Given the description of an element on the screen output the (x, y) to click on. 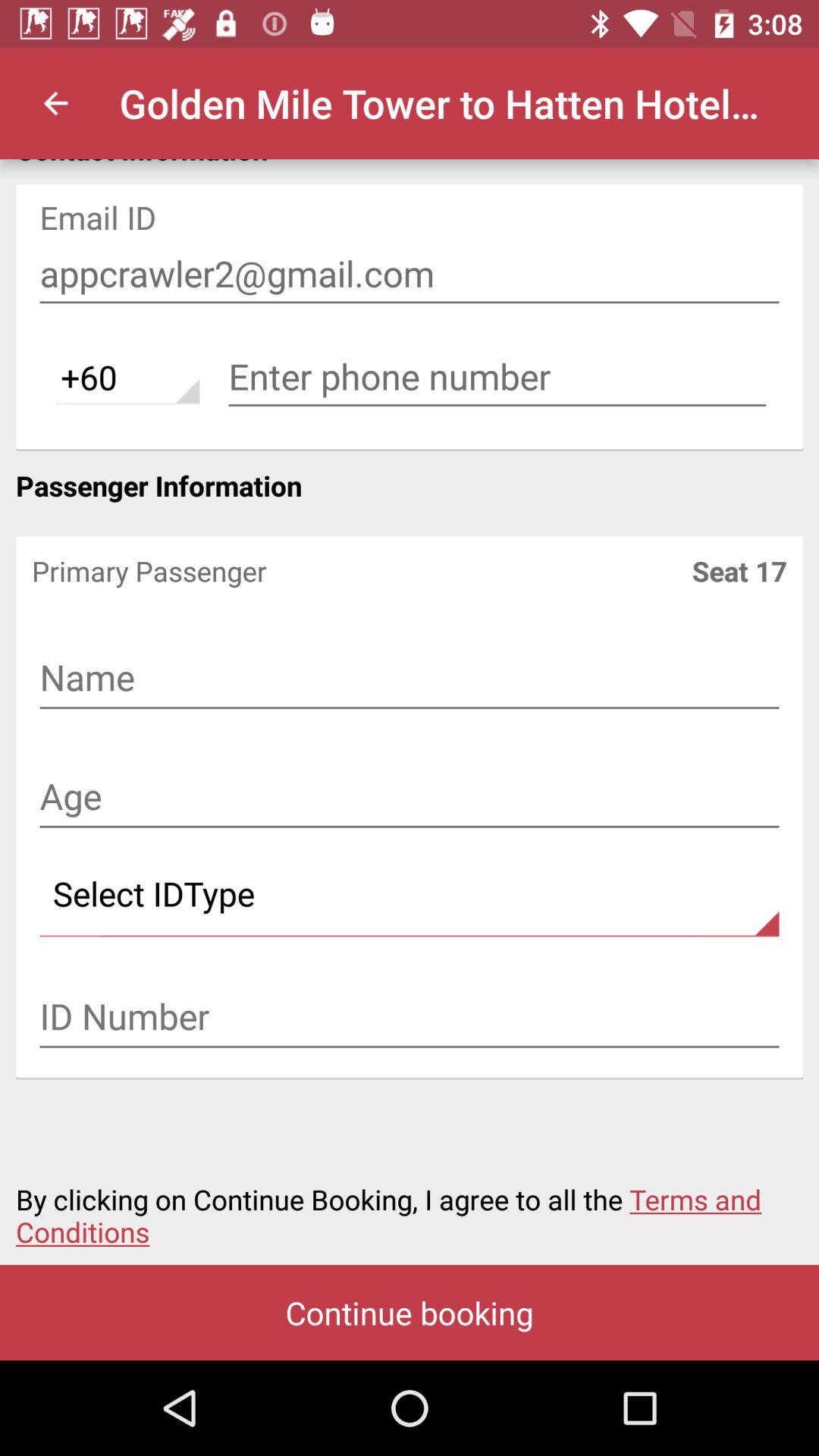
enter phone number (497, 377)
